Given the description of an element on the screen output the (x, y) to click on. 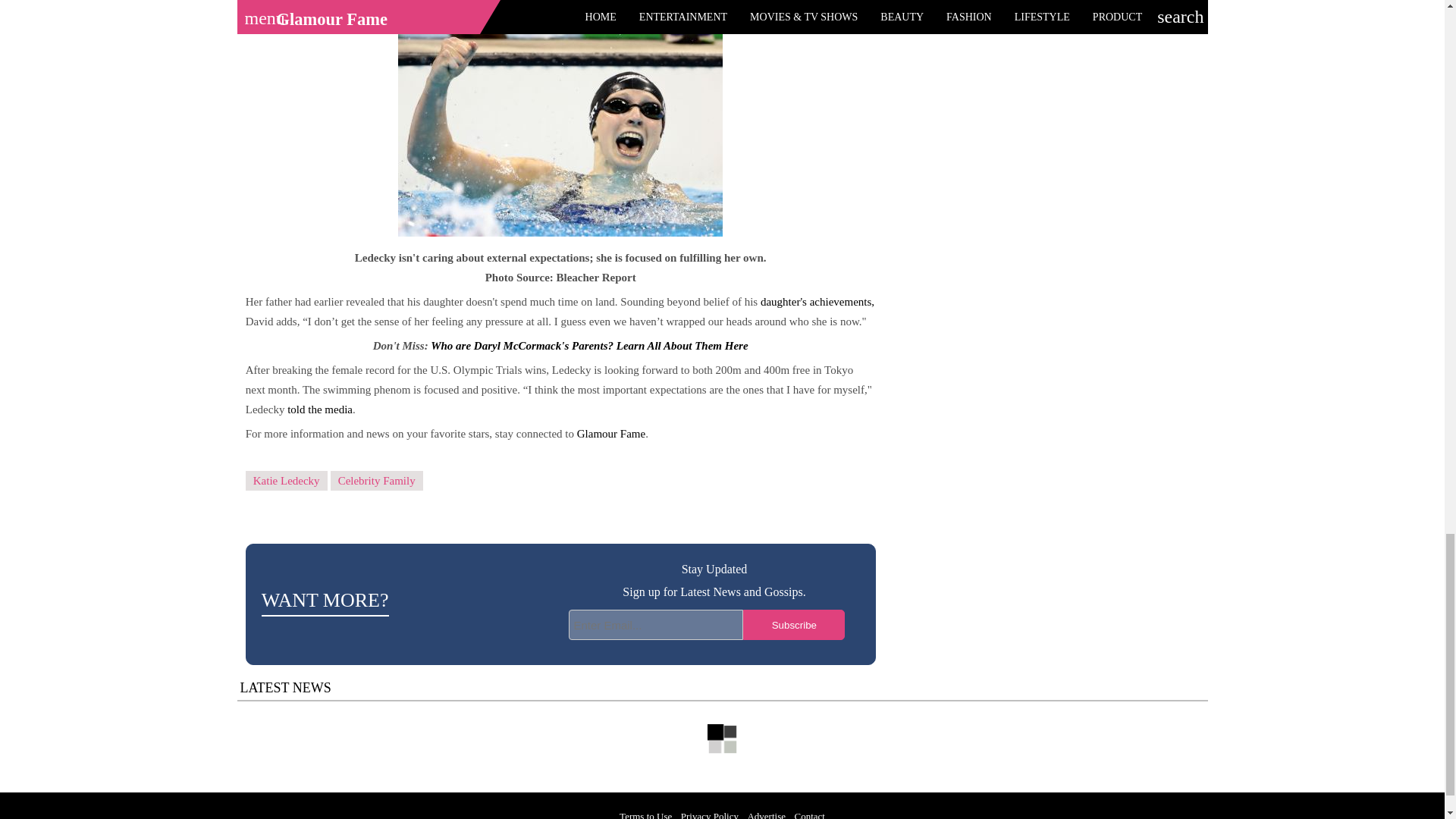
daughter's achievements, (817, 301)
Katie Ledecky (286, 480)
told the media (319, 409)
Who are Daryl McCormack's Parents? Learn All About Them Here (589, 345)
Glamour Fame (610, 433)
Subscribe (793, 624)
Celebrity Family (376, 480)
